Given the description of an element on the screen output the (x, y) to click on. 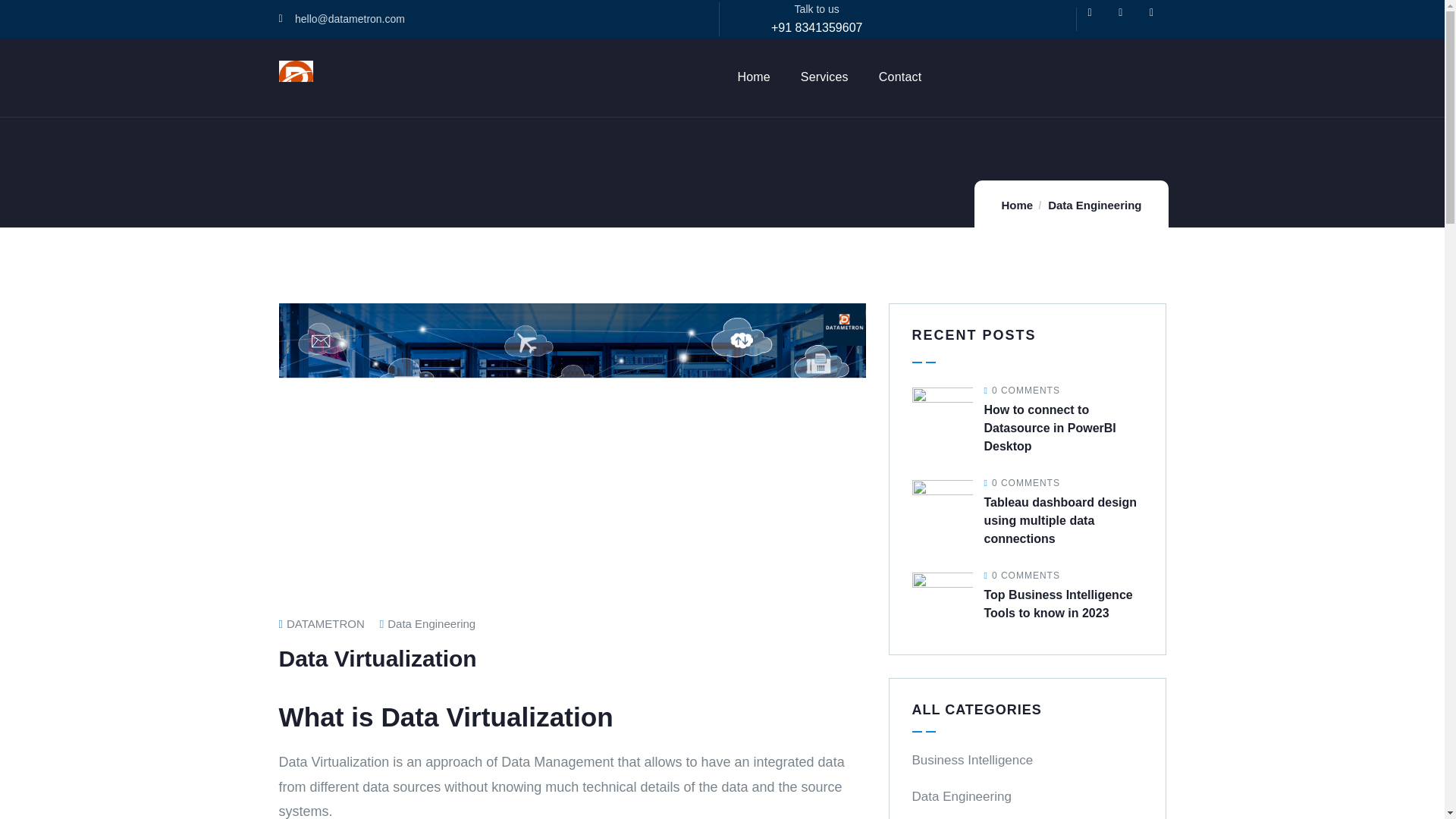
DATAMETRON (322, 623)
Data Engineering (431, 623)
Home (296, 77)
Talk to us (817, 9)
Home (1016, 205)
Data Engineering (1094, 205)
